Given the description of an element on the screen output the (x, y) to click on. 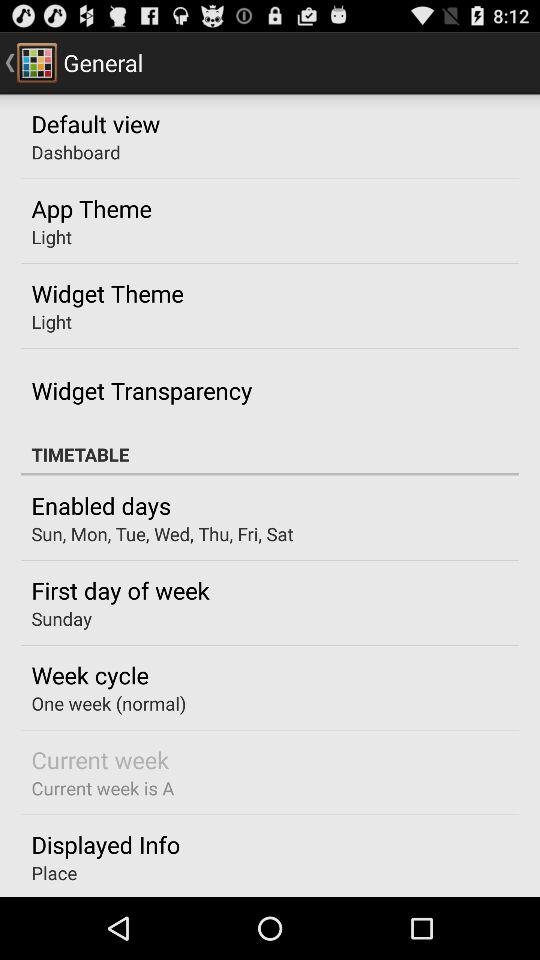
select sun mon tue item (162, 533)
